Given the description of an element on the screen output the (x, y) to click on. 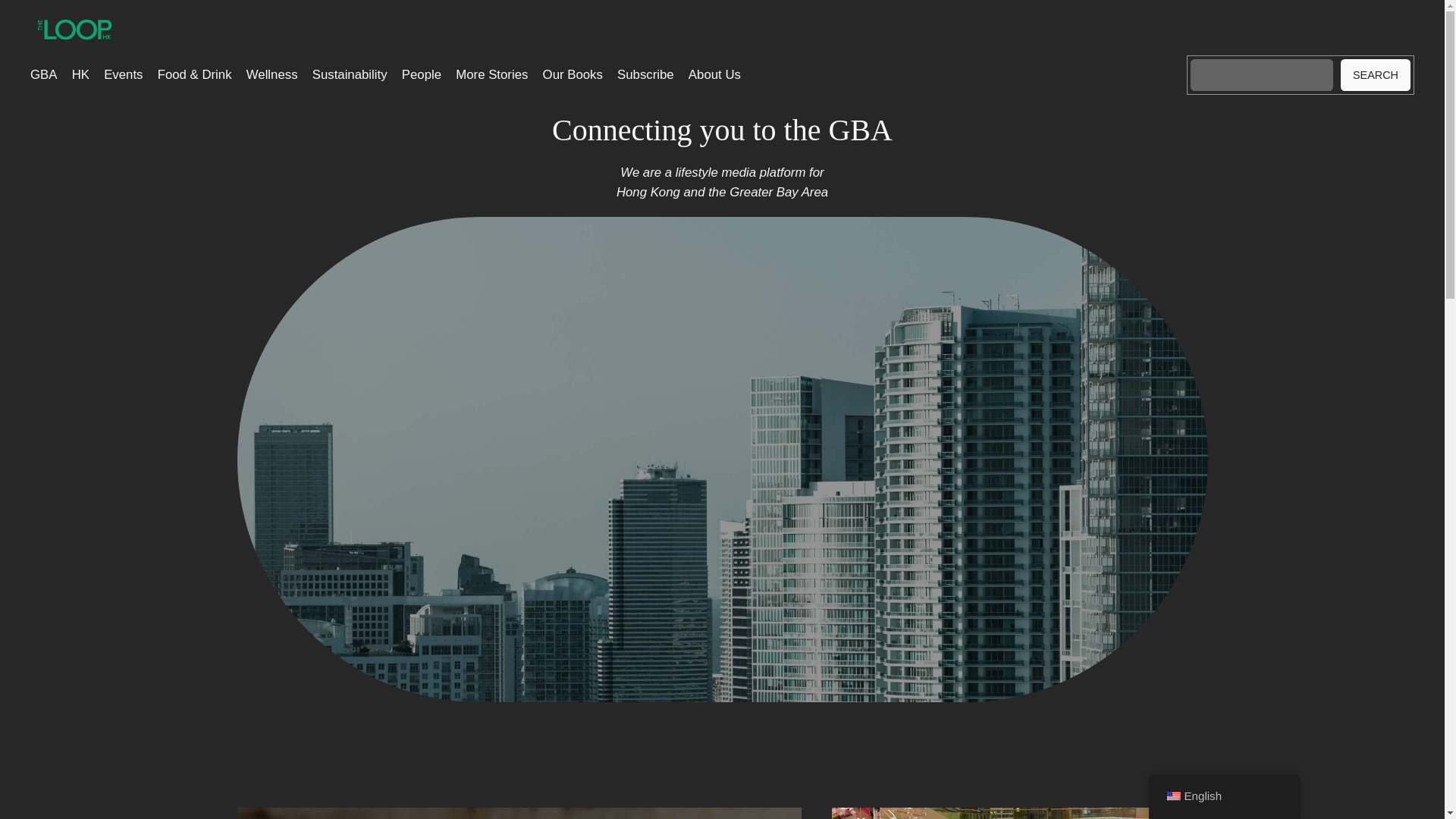
Wellness (272, 75)
Subscribe (645, 75)
Our Books (572, 75)
About Us (714, 75)
SEARCH (1375, 74)
People (421, 75)
Events (122, 75)
English (1172, 795)
GBA (43, 75)
Sustainability (350, 75)
